Given the description of an element on the screen output the (x, y) to click on. 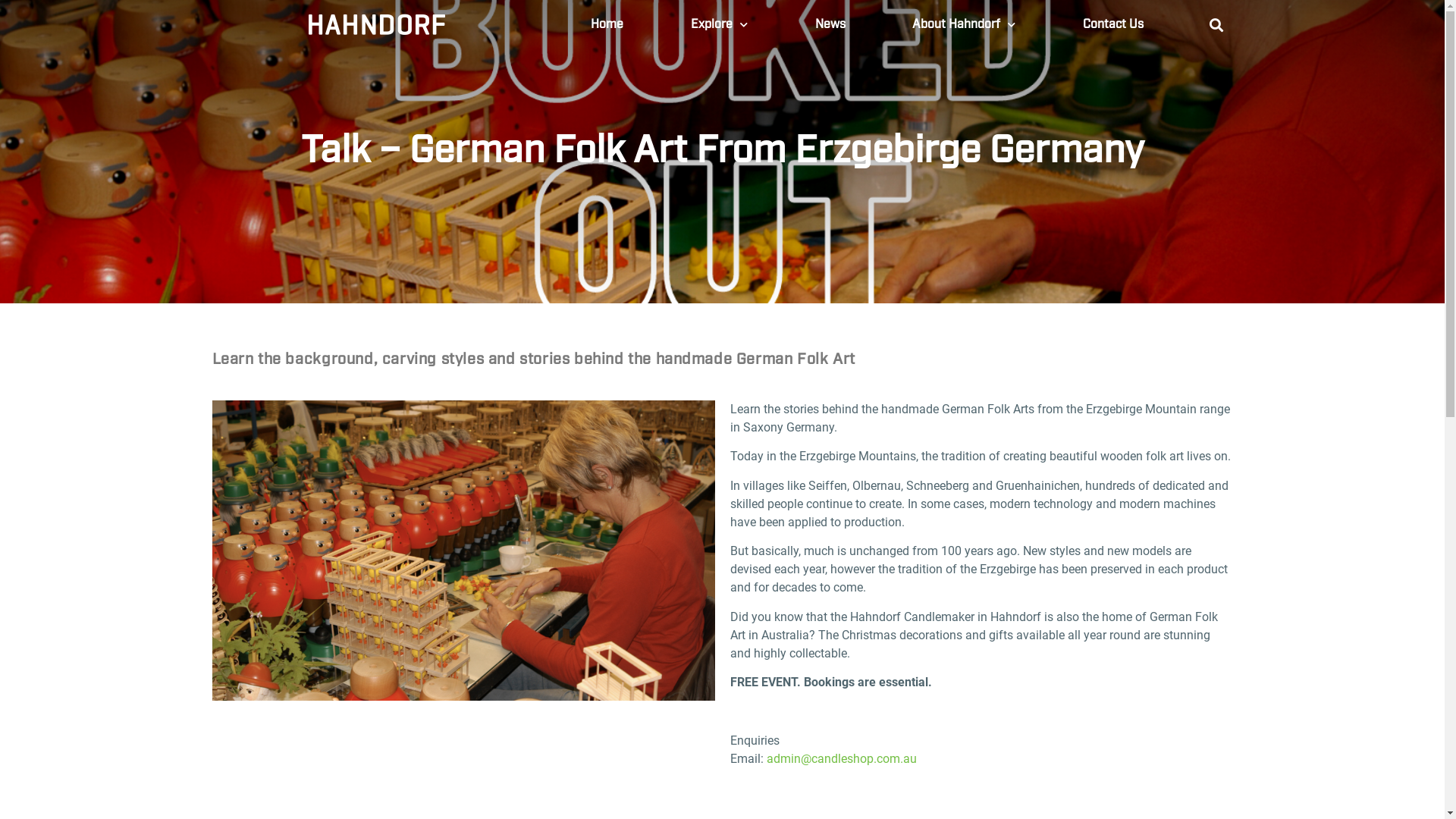
Contact Us Element type: text (1113, 24)
Home Element type: text (607, 24)
About Hahndorf Element type: text (963, 24)
Explore Element type: text (719, 24)
admin@candleshop.com.au Element type: text (840, 758)
News Element type: text (829, 24)
Hahndorf-White Element type: hover (376, 24)
